Given the description of an element on the screen output the (x, y) to click on. 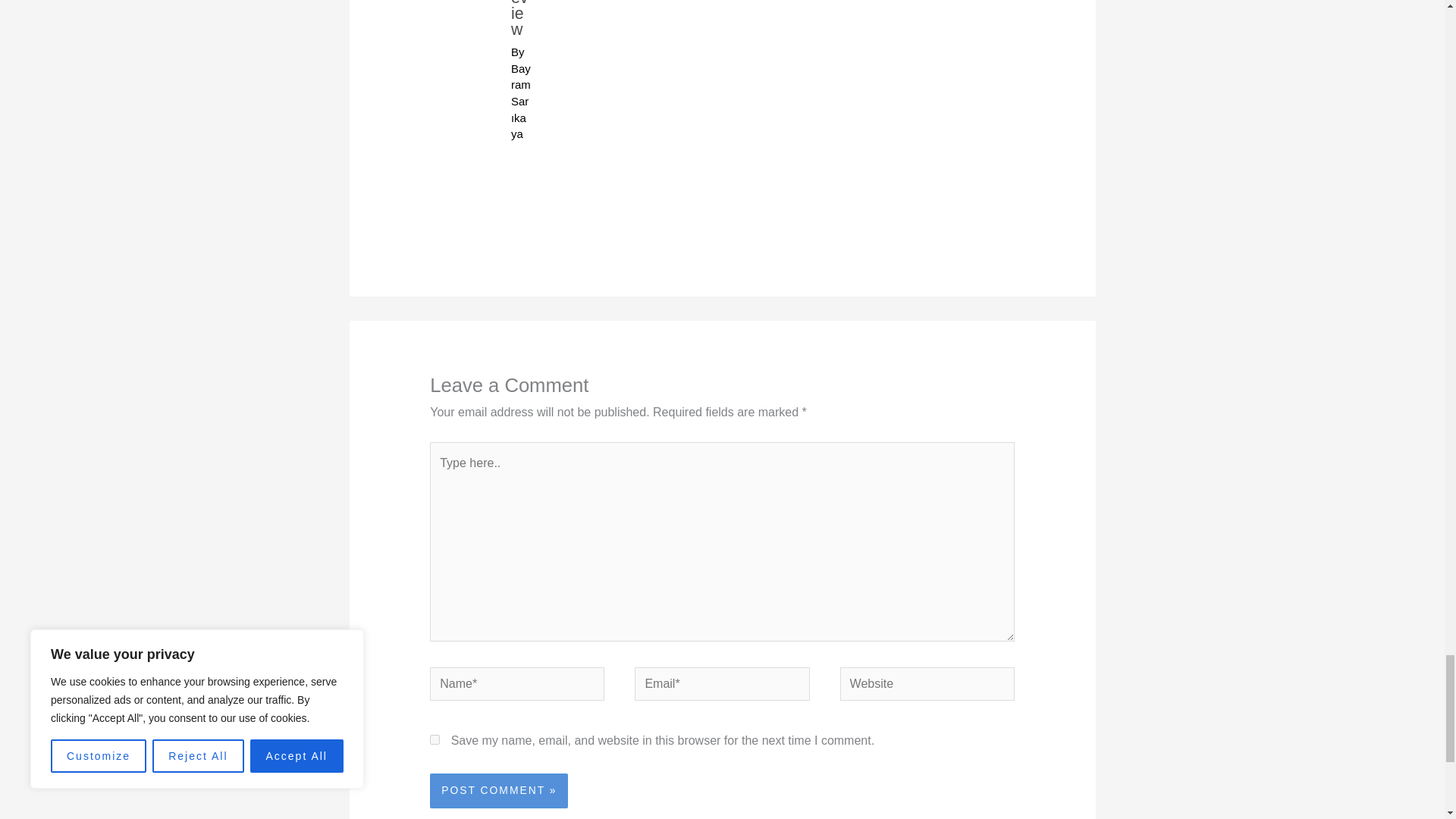
yes (434, 739)
